Given the description of an element on the screen output the (x, y) to click on. 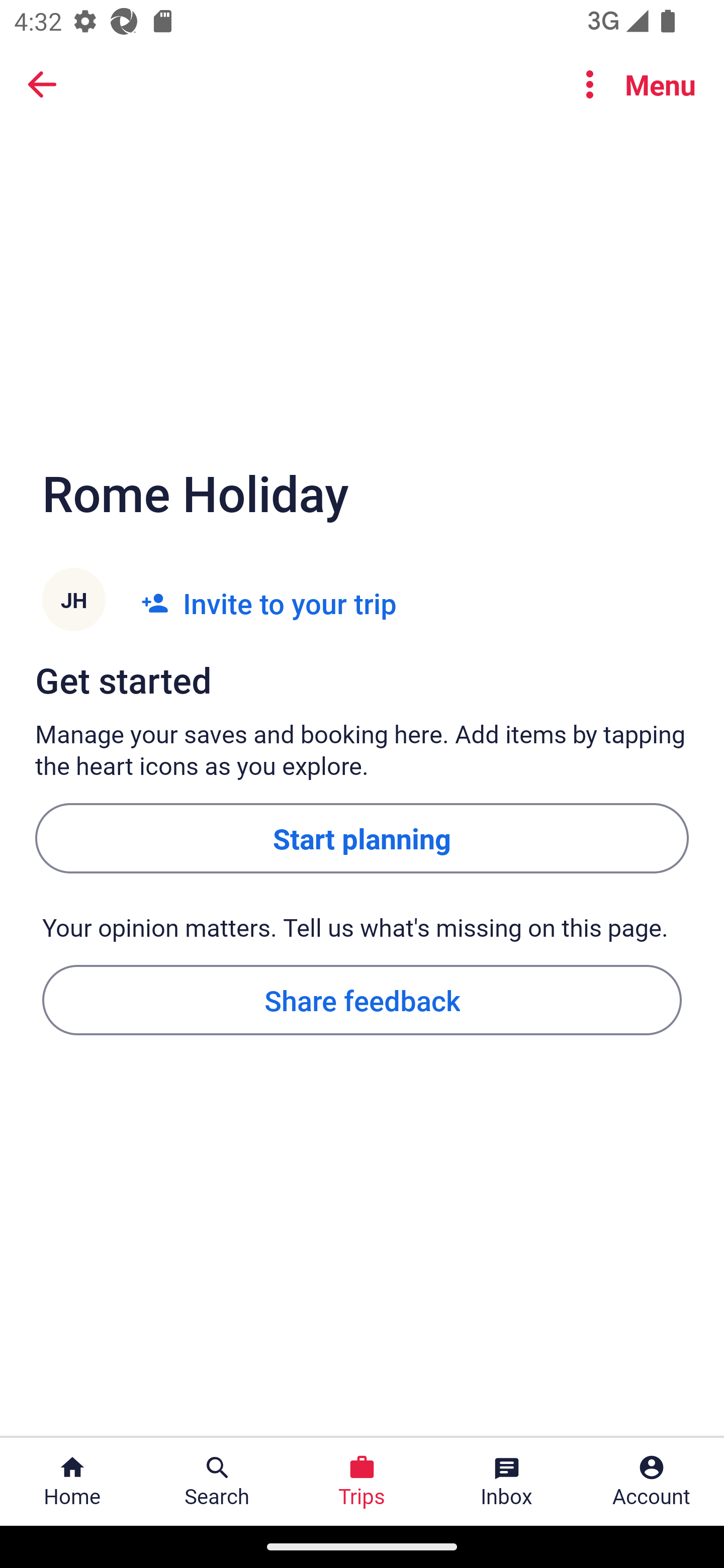
Menu Menu Button (632, 84)
BACK (41, 83)
JH J​H (73, 602)
Share feedback Button Share feedback (361, 999)
Home Home Button (72, 1481)
Search Search Button (216, 1481)
Inbox Inbox Button (506, 1481)
Account Profile. Button (651, 1481)
